Given the description of an element on the screen output the (x, y) to click on. 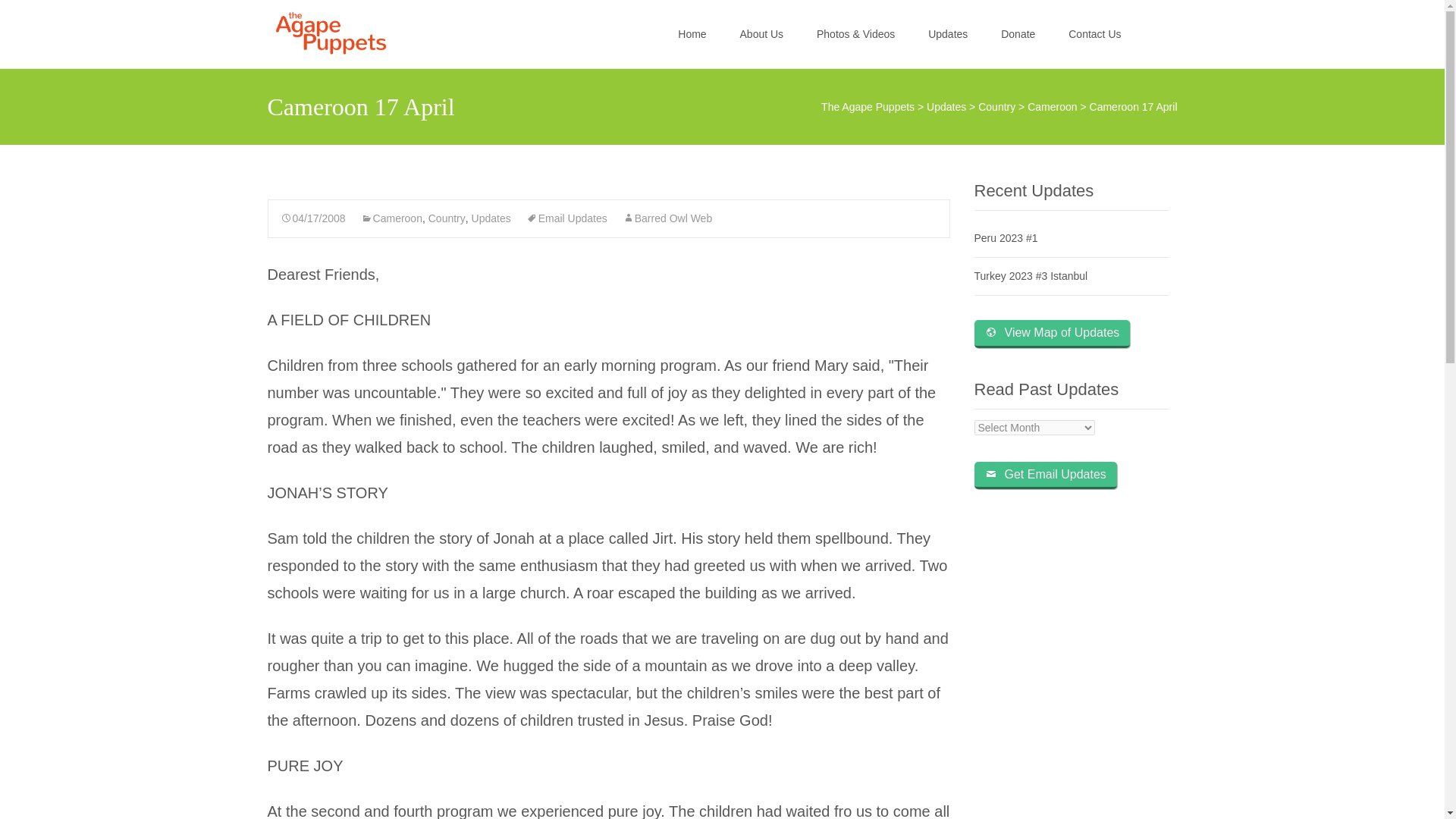
Go to the Country Category archives. (996, 106)
Cameroon (1052, 106)
Email Updates (566, 218)
The Agape Puppets (318, 30)
Go to the Cameroon Category archives. (1052, 106)
Country (446, 218)
Country (996, 106)
Go to The Agape Puppets. (867, 106)
Go to Updates. (946, 106)
Cameroon (391, 218)
